Given the description of an element on the screen output the (x, y) to click on. 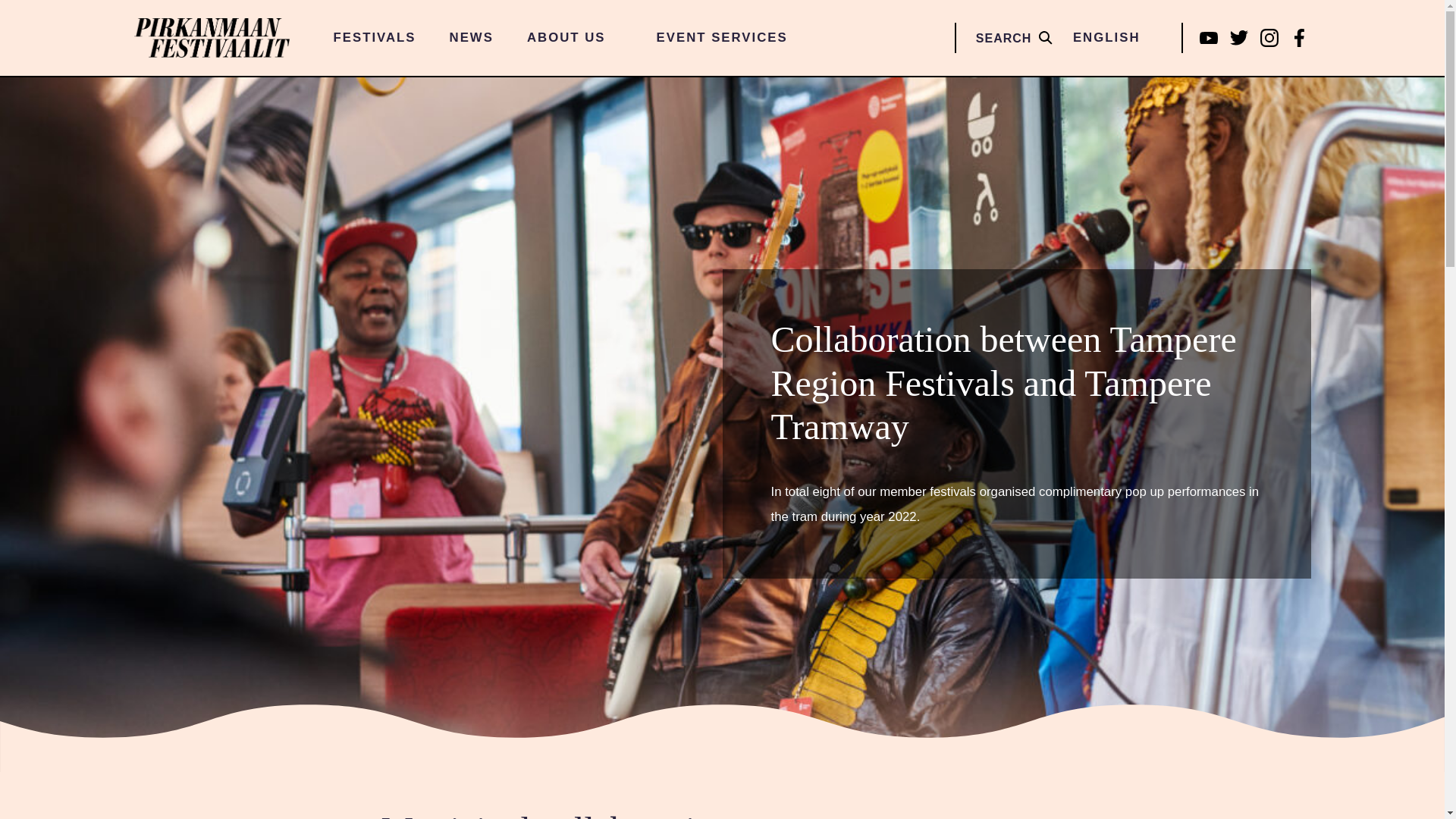
ABOUT US (574, 38)
Sivuston logo, linkki etusivulle (210, 38)
ENGLISH (1114, 38)
Search (16, 105)
FESTIVALS (374, 38)
EVENT SERVICES (721, 38)
Pirkanmaa festivals (210, 38)
